Given the description of an element on the screen output the (x, y) to click on. 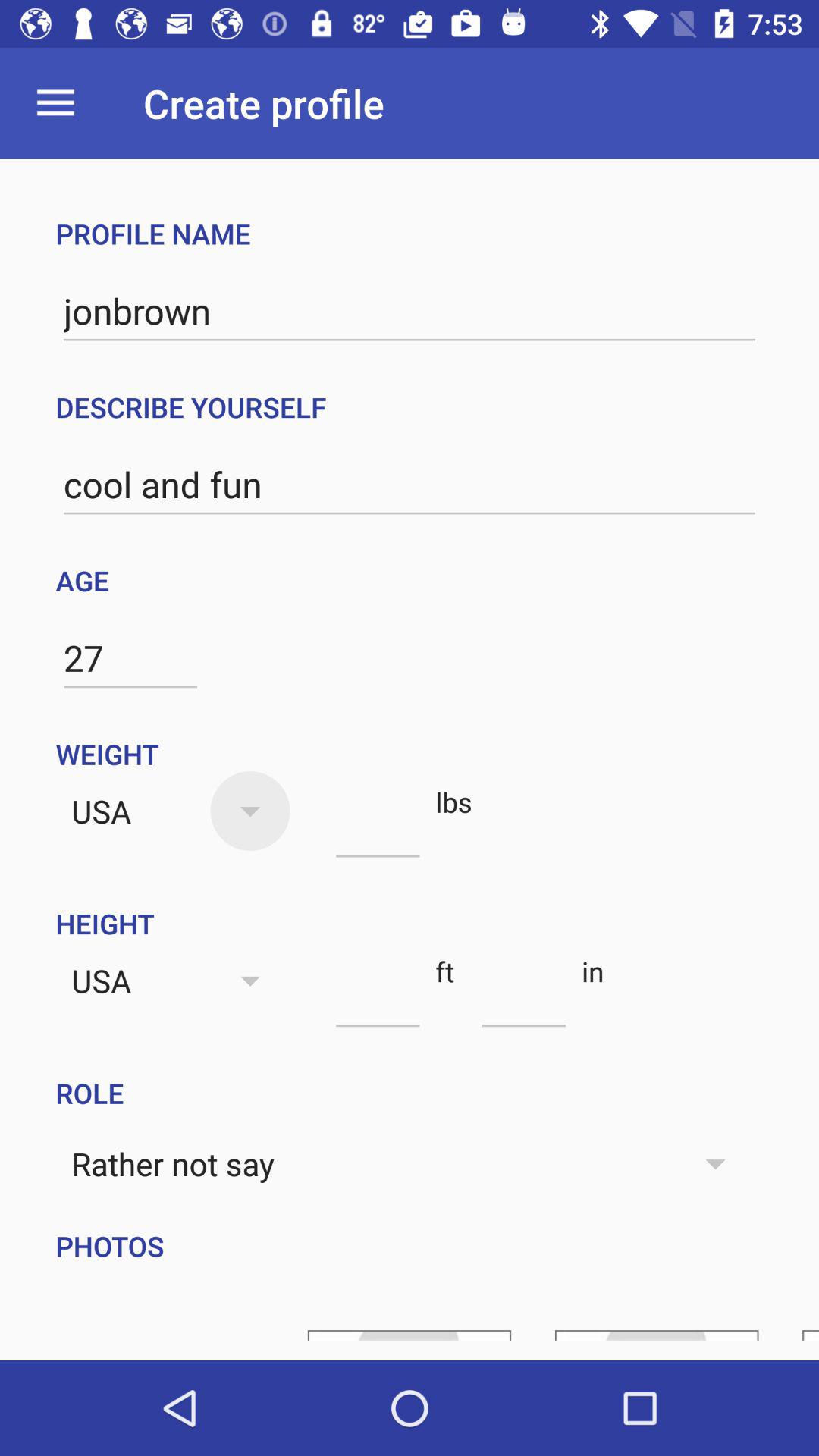
turn off icon above the height item (377, 830)
